Given the description of an element on the screen output the (x, y) to click on. 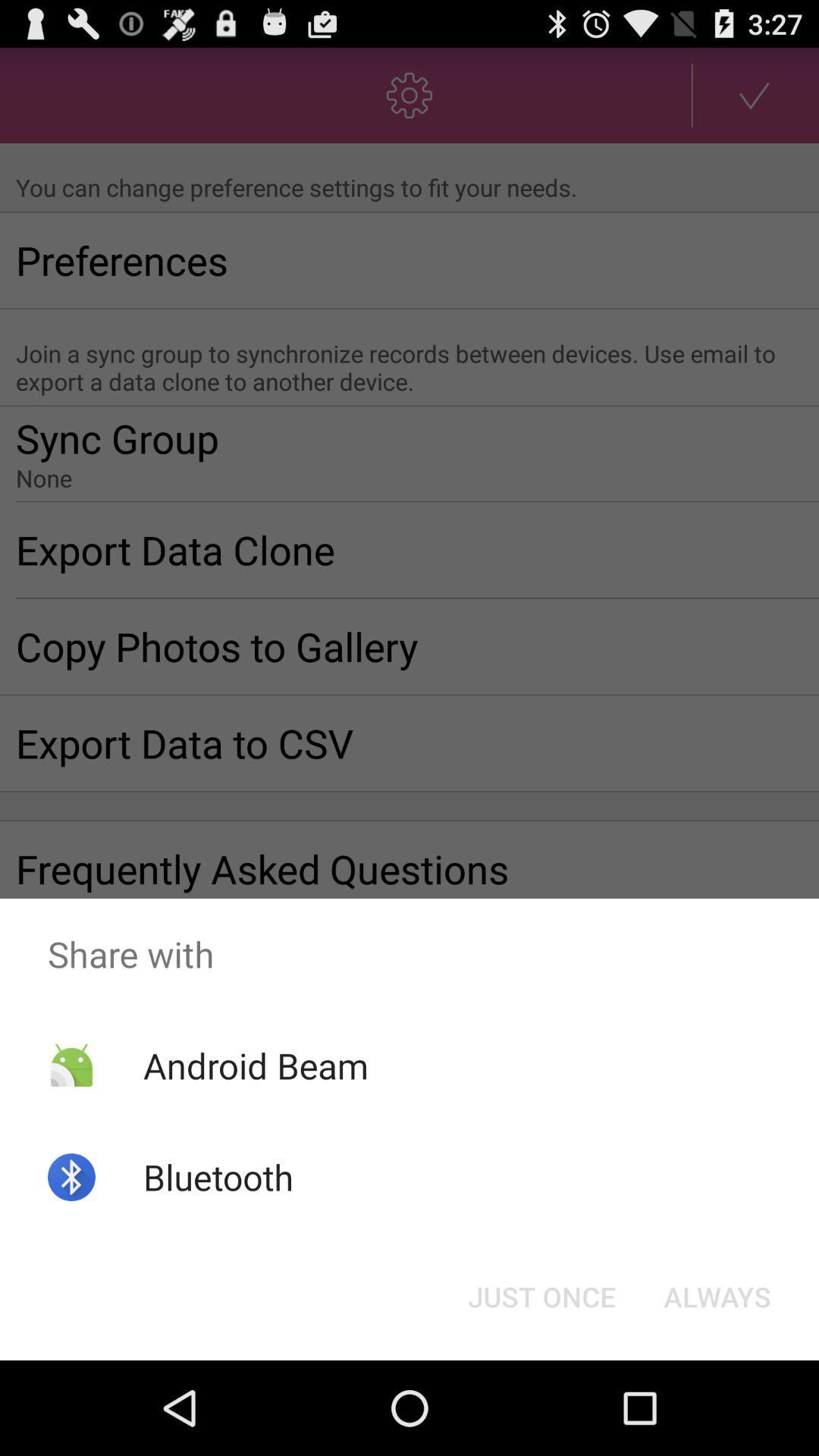
press the android beam icon (255, 1065)
